Given the description of an element on the screen output the (x, y) to click on. 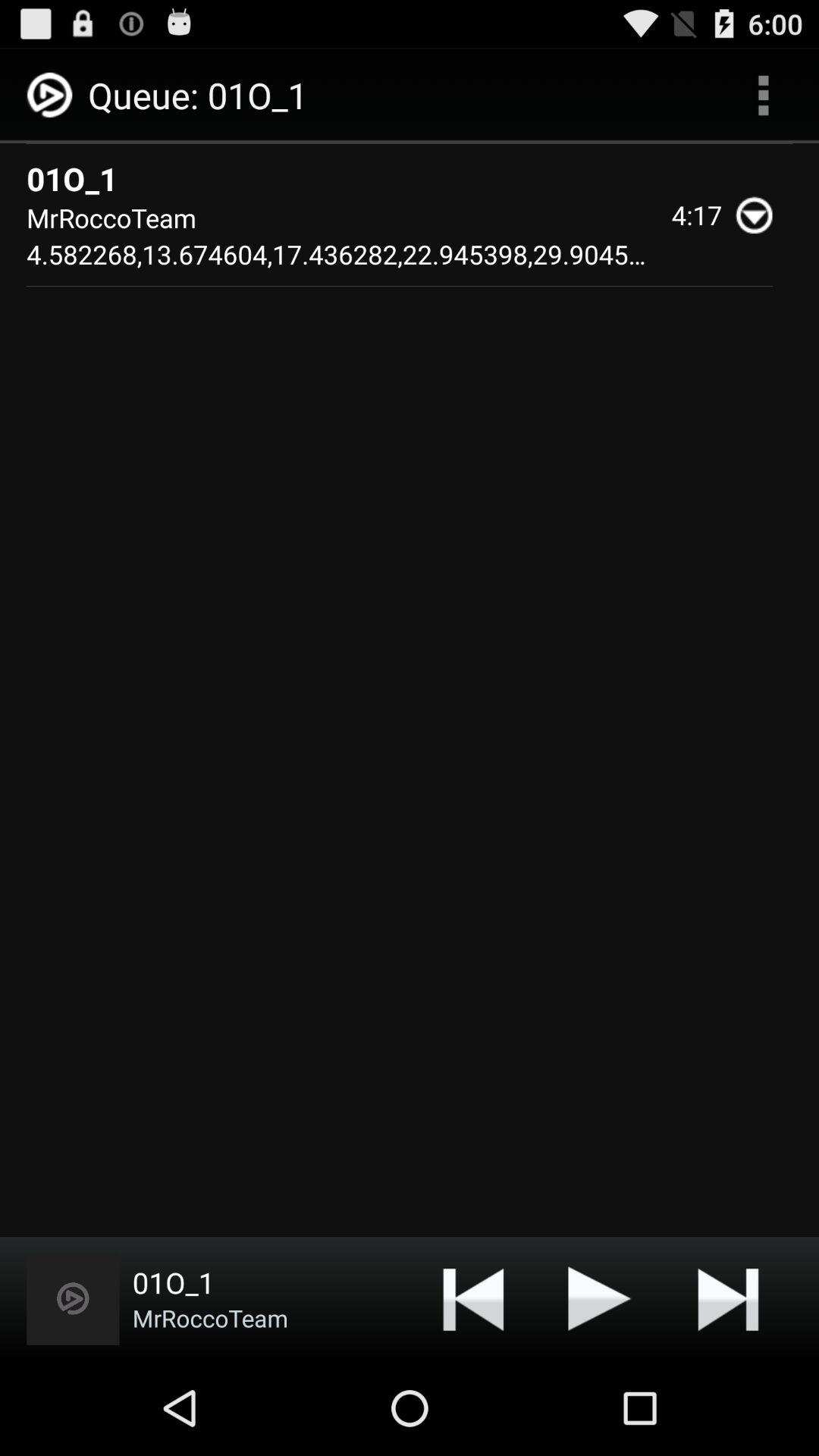
activate arrow to go forward (728, 1298)
